Given the description of an element on the screen output the (x, y) to click on. 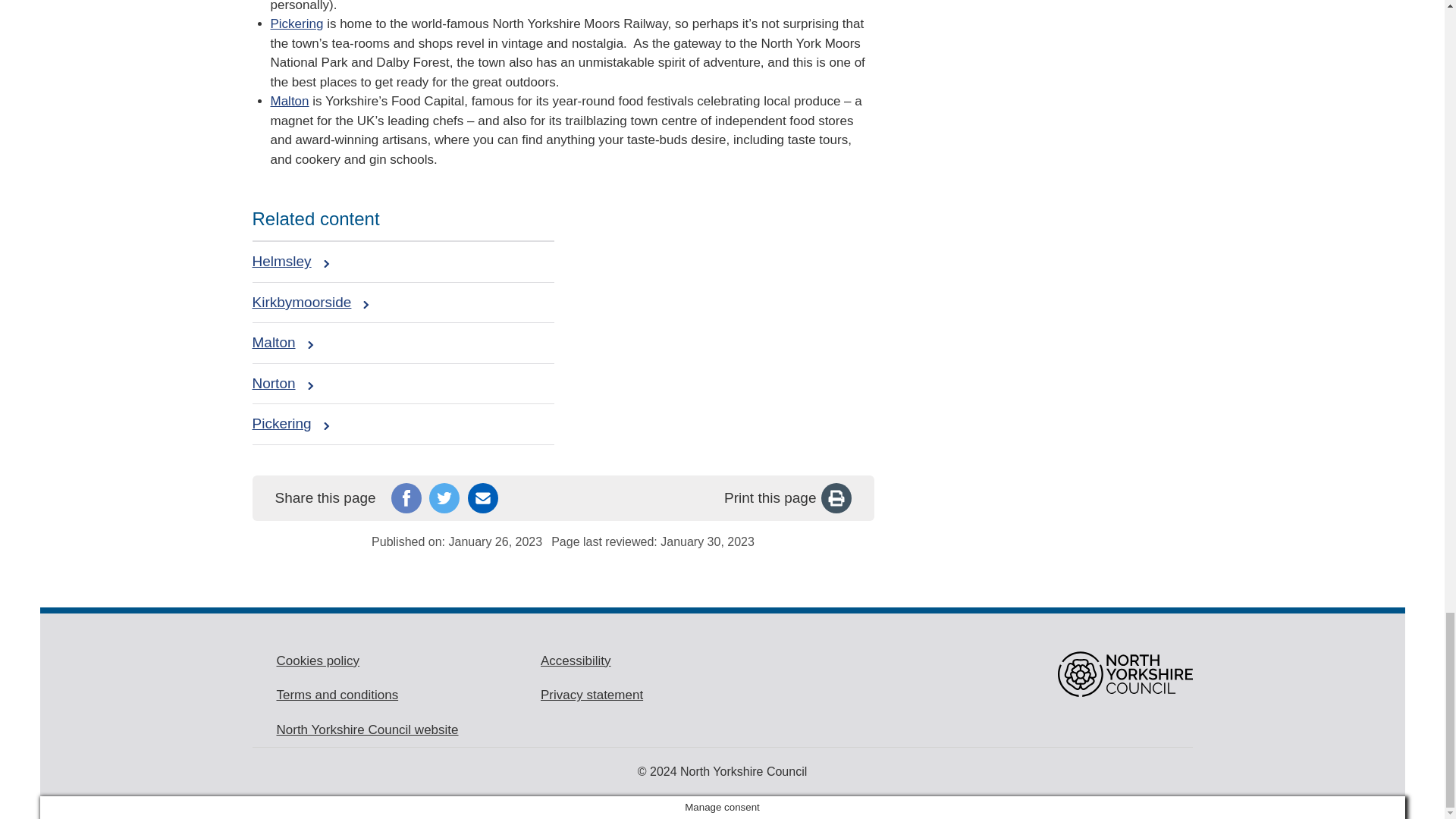
North Yorkshire County Council Homepage (1124, 673)
Kirkbymoorside (310, 302)
Norton (282, 383)
Share on Twitter (444, 498)
North Yorkshire Council website (367, 730)
Privacy statement (591, 695)
Cookies policy (317, 660)
Terms and conditions (336, 695)
Print this page (786, 498)
Pickering (290, 423)
